Given the description of an element on the screen output the (x, y) to click on. 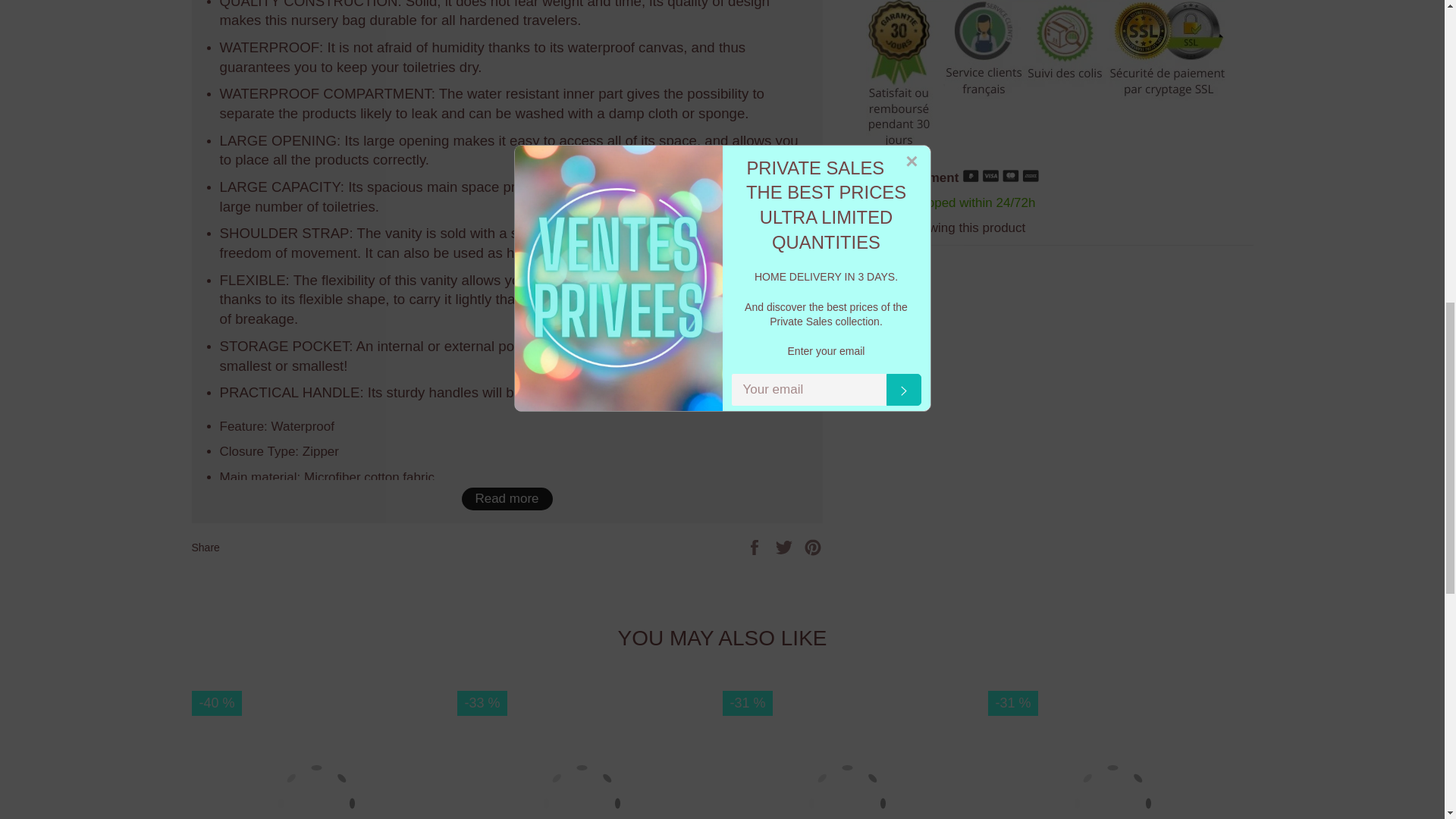
Tweet on Twitter (785, 546)
Share on Facebook (756, 546)
Pin on Pinterest (812, 546)
